Given the description of an element on the screen output the (x, y) to click on. 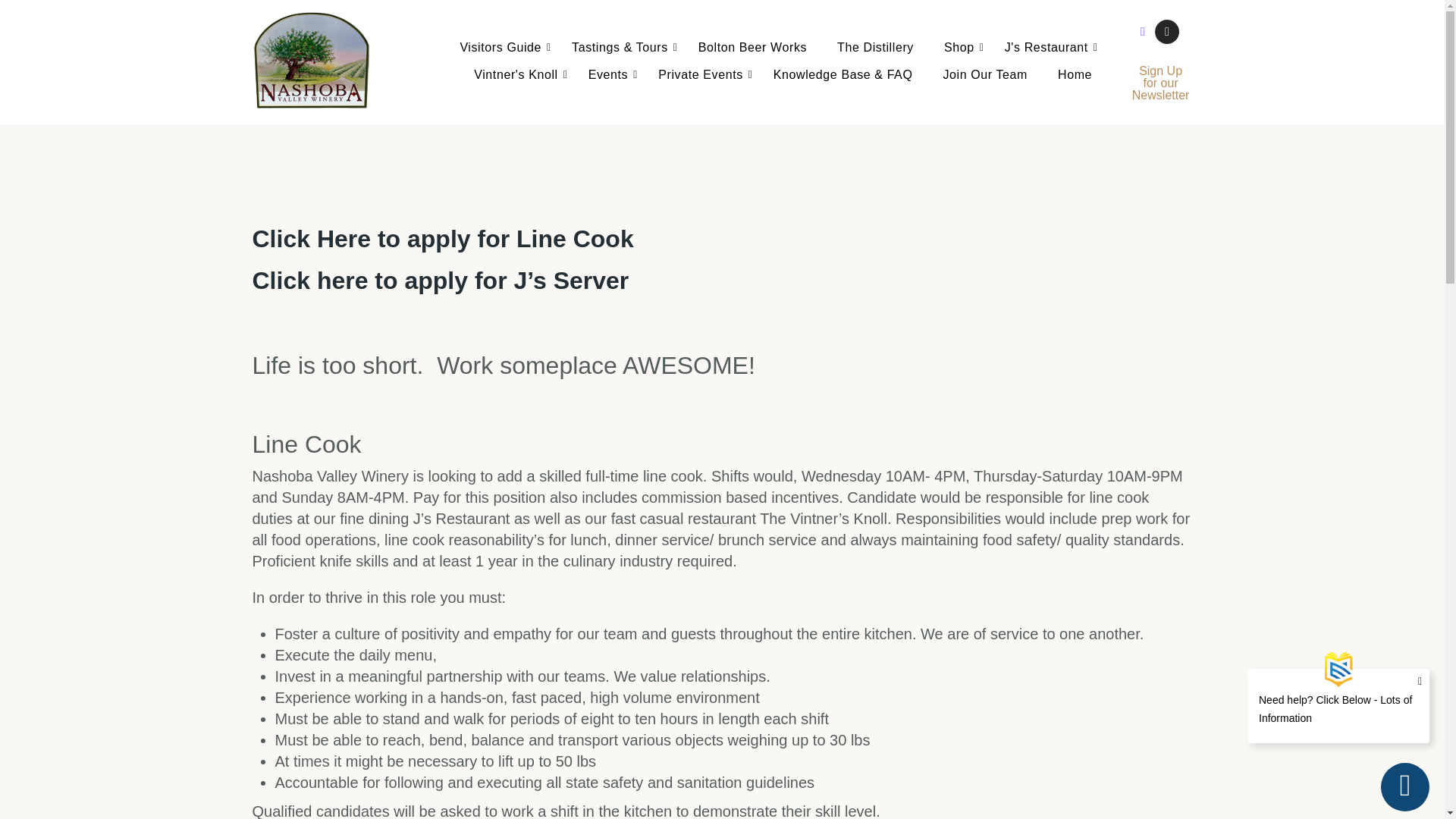
Vintner's Knoll (515, 75)
Bolton Beer Works (752, 48)
Events (608, 75)
J's Restaurant (1046, 48)
Shop (958, 48)
The Distillery (875, 48)
Visitors Guide (499, 48)
